Given the description of an element on the screen output the (x, y) to click on. 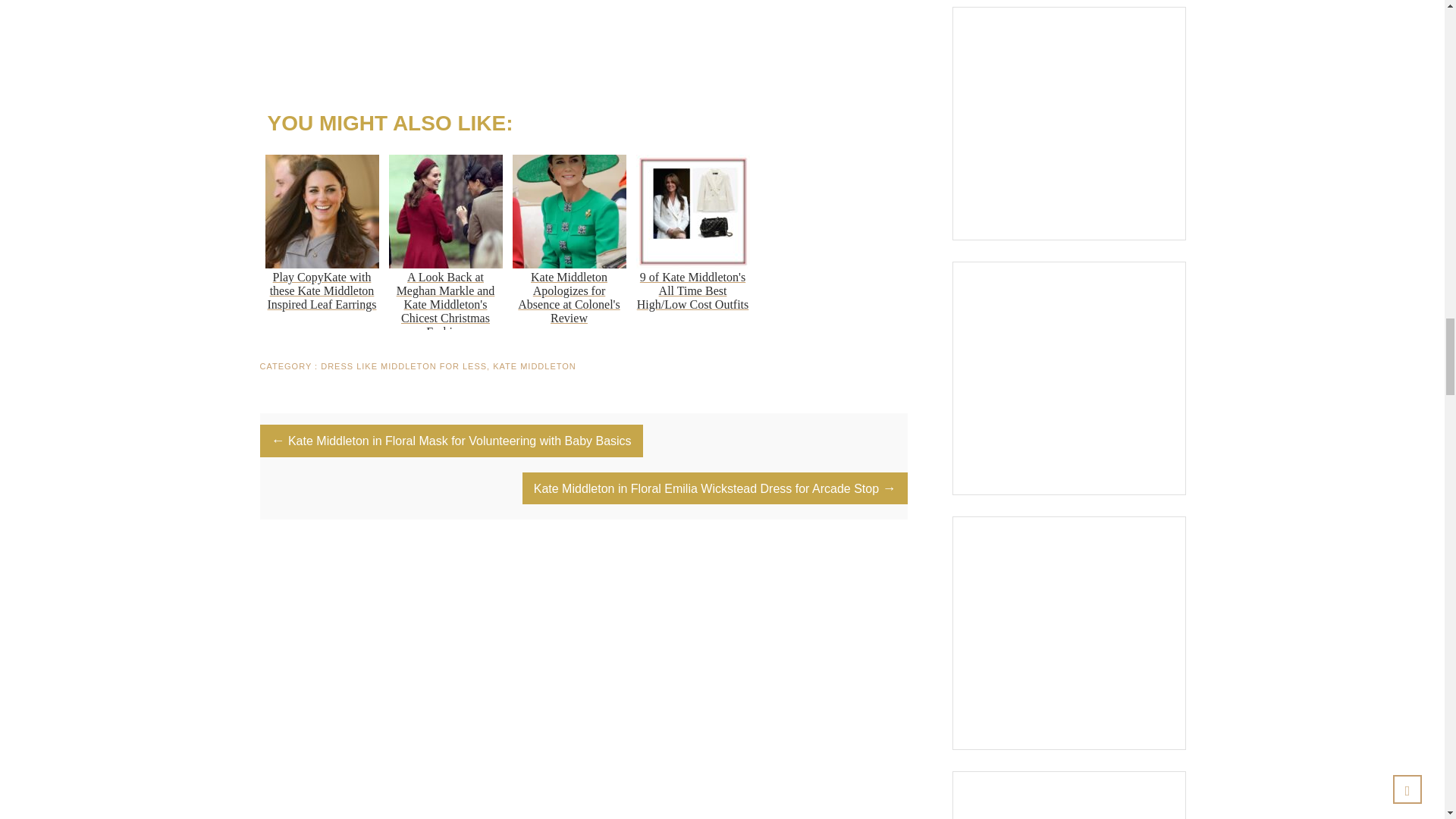
KATE MIDDLETON (534, 366)
DRESS LIKE MIDDLETON FOR LESS (403, 366)
Kate Middleton Apologizes for Absence at Colonel's Review (568, 239)
